Given the description of an element on the screen output the (x, y) to click on. 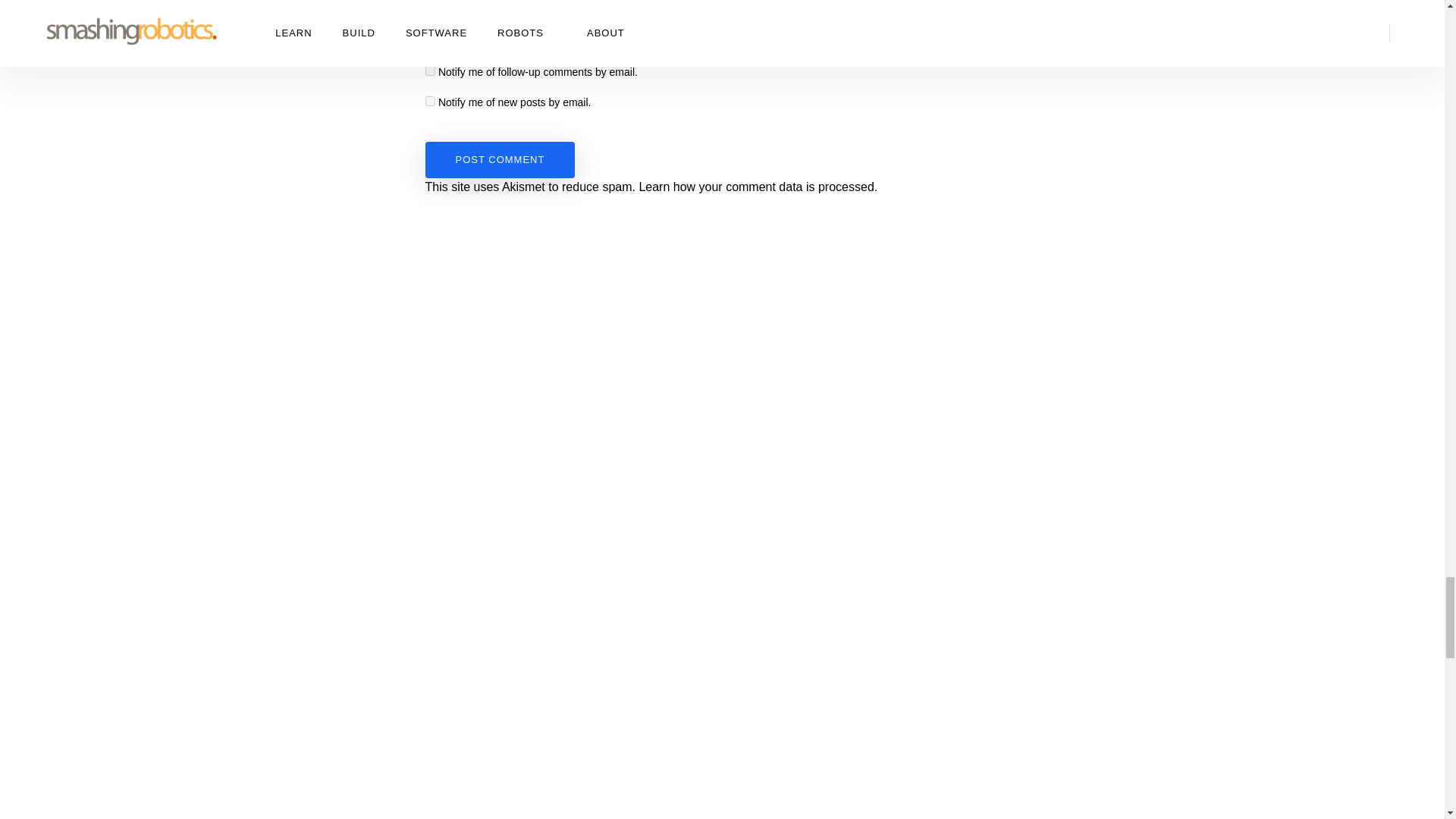
Post Comment (500, 159)
subscribe (429, 101)
subscribe (429, 71)
